Given the description of an element on the screen output the (x, y) to click on. 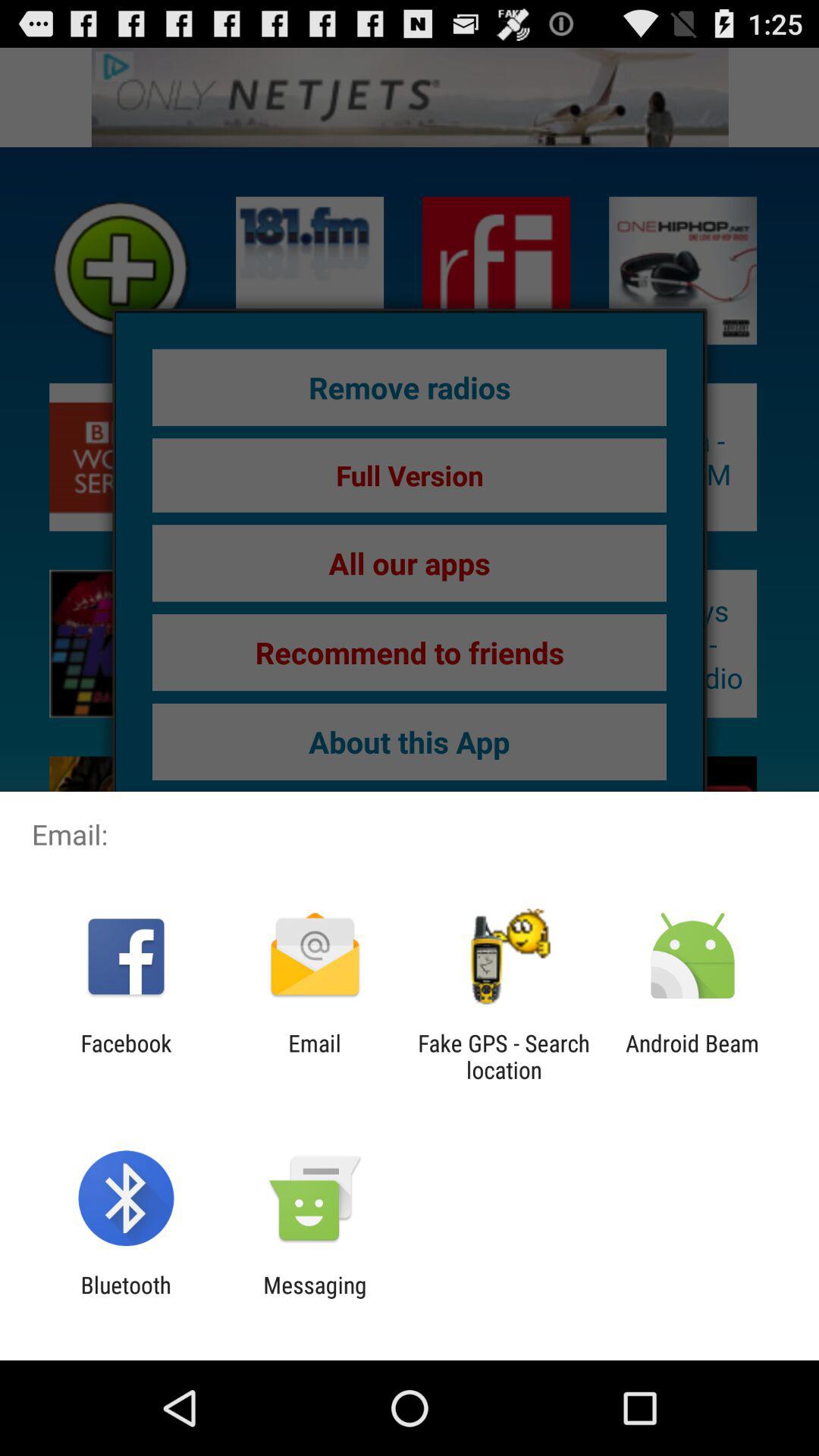
turn off the app to the left of messaging item (125, 1298)
